Given the description of an element on the screen output the (x, y) to click on. 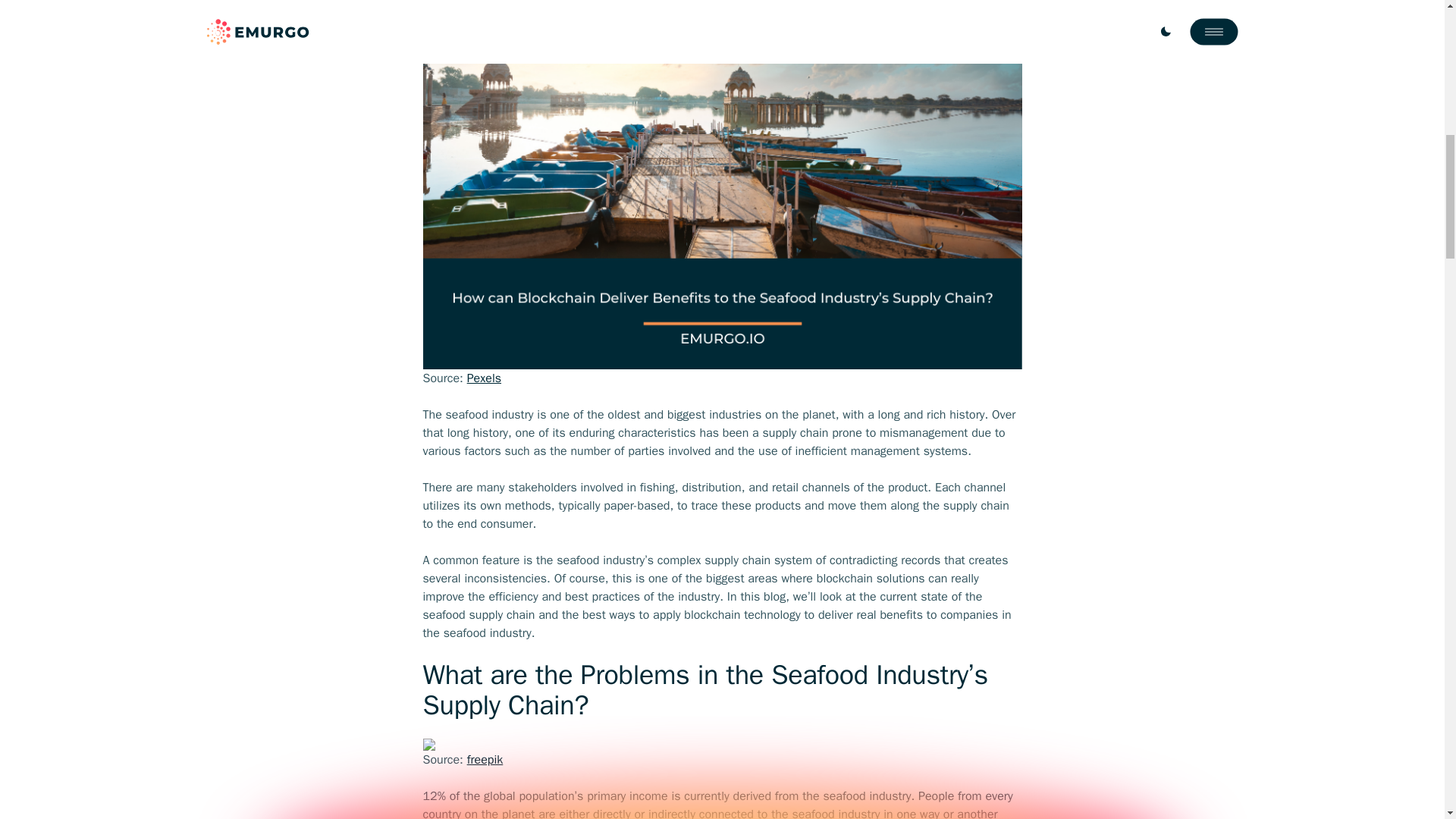
freepik (485, 759)
Pexels (483, 378)
